Given the description of an element on the screen output the (x, y) to click on. 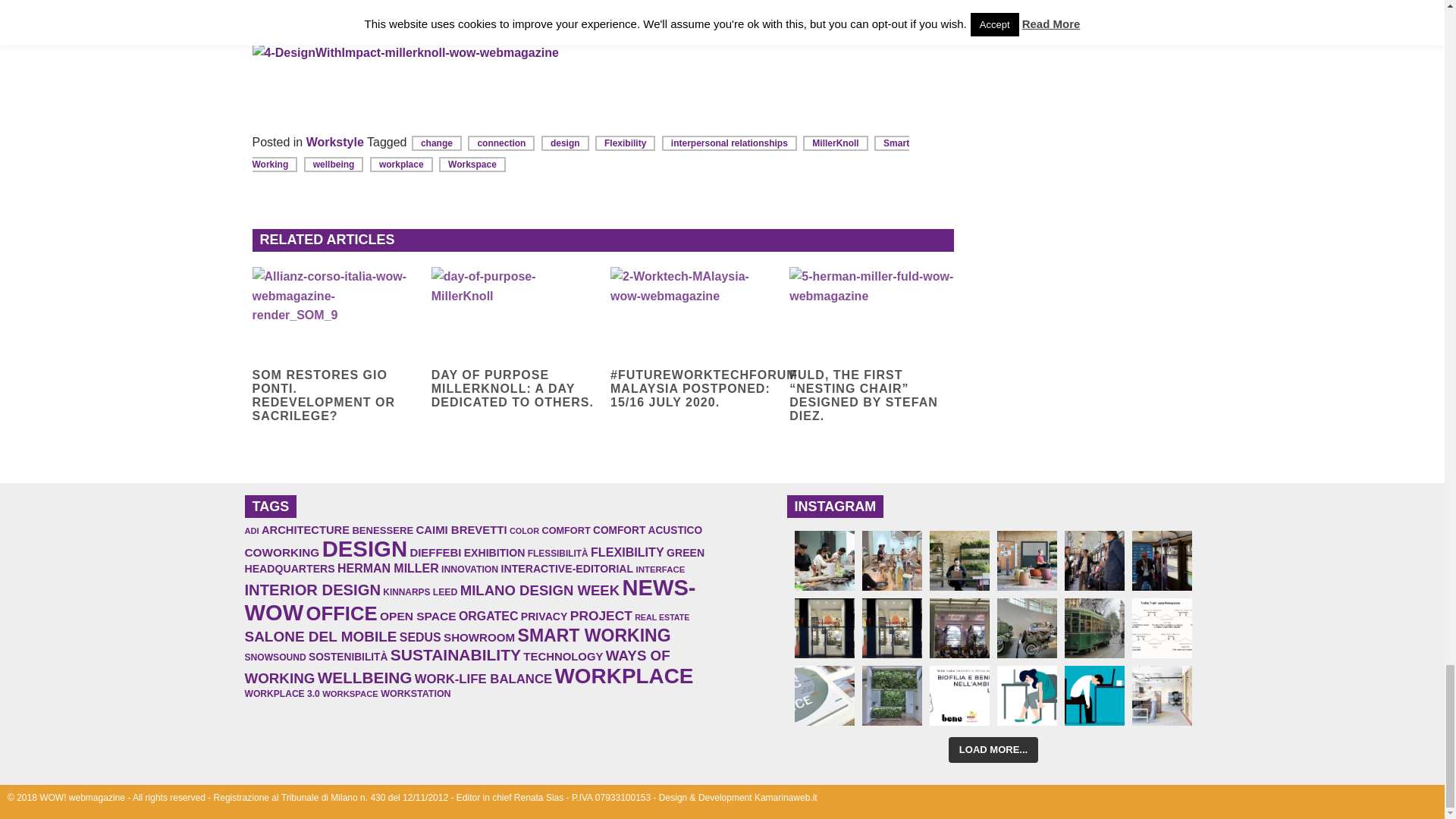
SOM restores Gio Ponti. Redevelopment or sacrilege? (332, 313)
SOM restores Gio Ponti. Redevelopment or sacrilege? (332, 395)
Day of Purpose MillerKnoll: a day dedicated to others. (512, 313)
Day of Purpose MillerKnoll: a day dedicated to others. (512, 388)
